Given the description of an element on the screen output the (x, y) to click on. 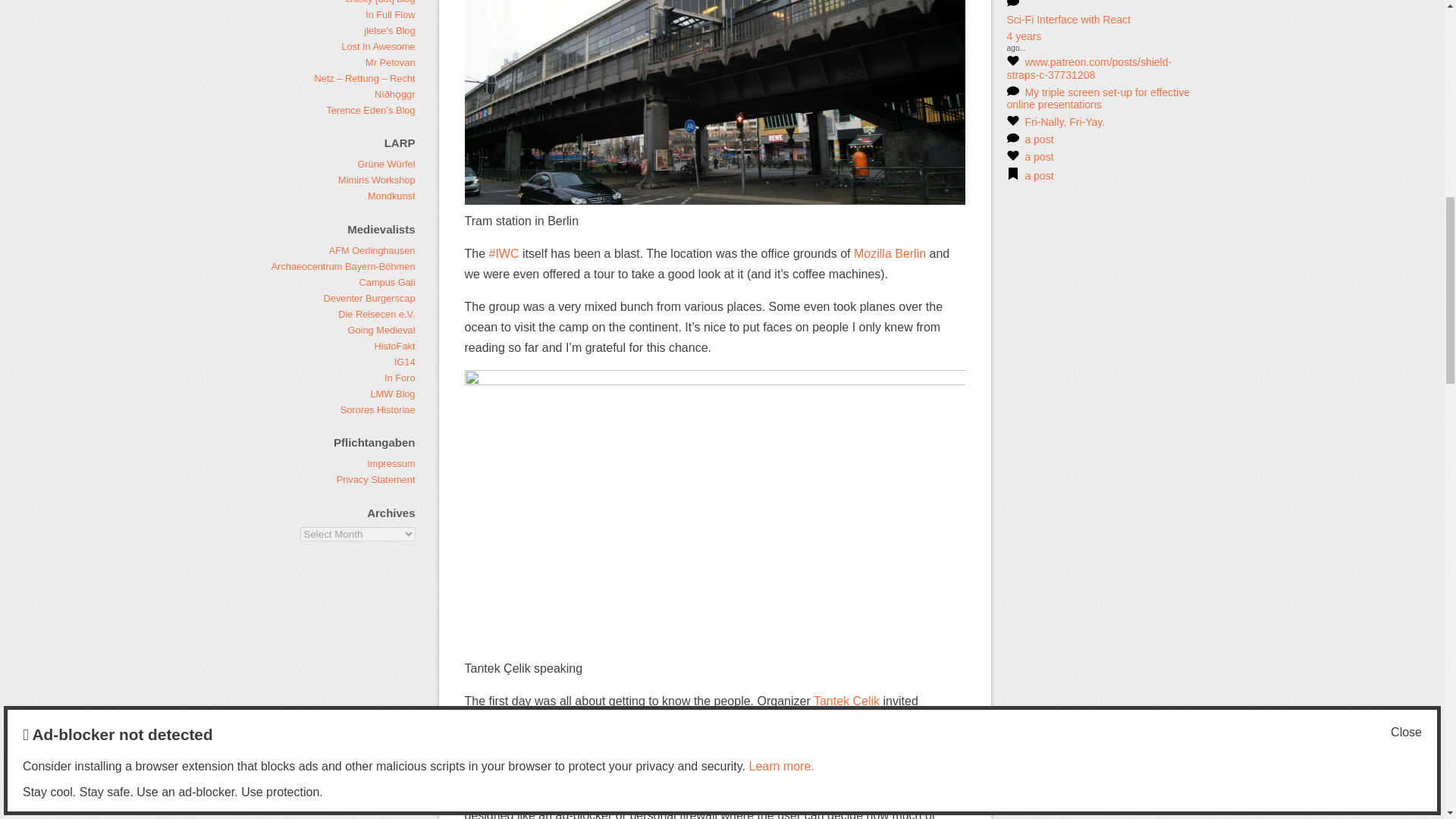
OptOutTools (642, 774)
principles (779, 741)
Mozilla Berlin (889, 253)
